Given the description of an element on the screen output the (x, y) to click on. 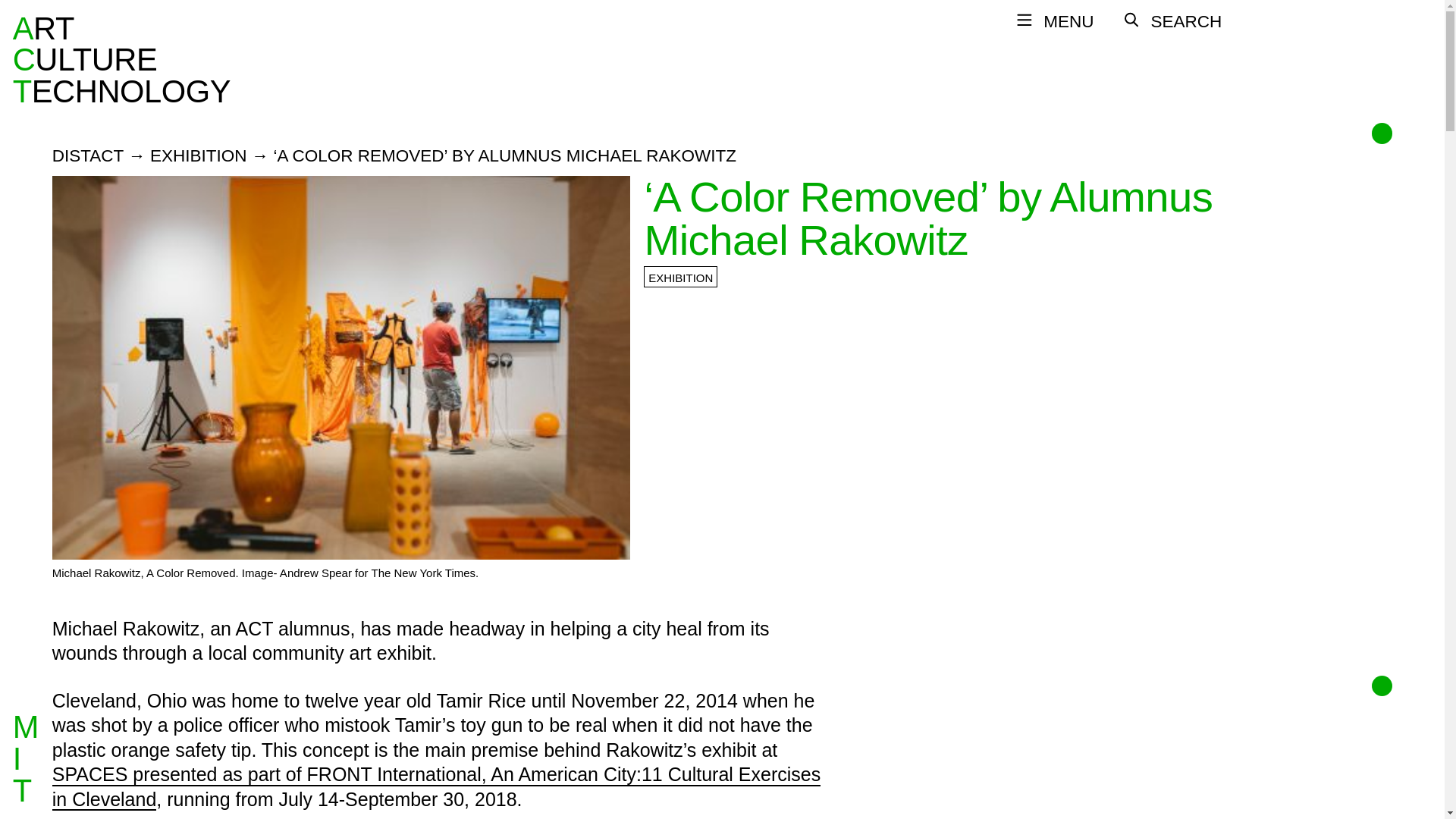
SEARCH (1171, 21)
Go to the Exhibition category archives. (198, 155)
Go to DISTACT. (87, 155)
MENU (1054, 21)
EXHIBITION (121, 59)
DISTACT (198, 155)
EXHIBITION (87, 155)
